Given the description of an element on the screen output the (x, y) to click on. 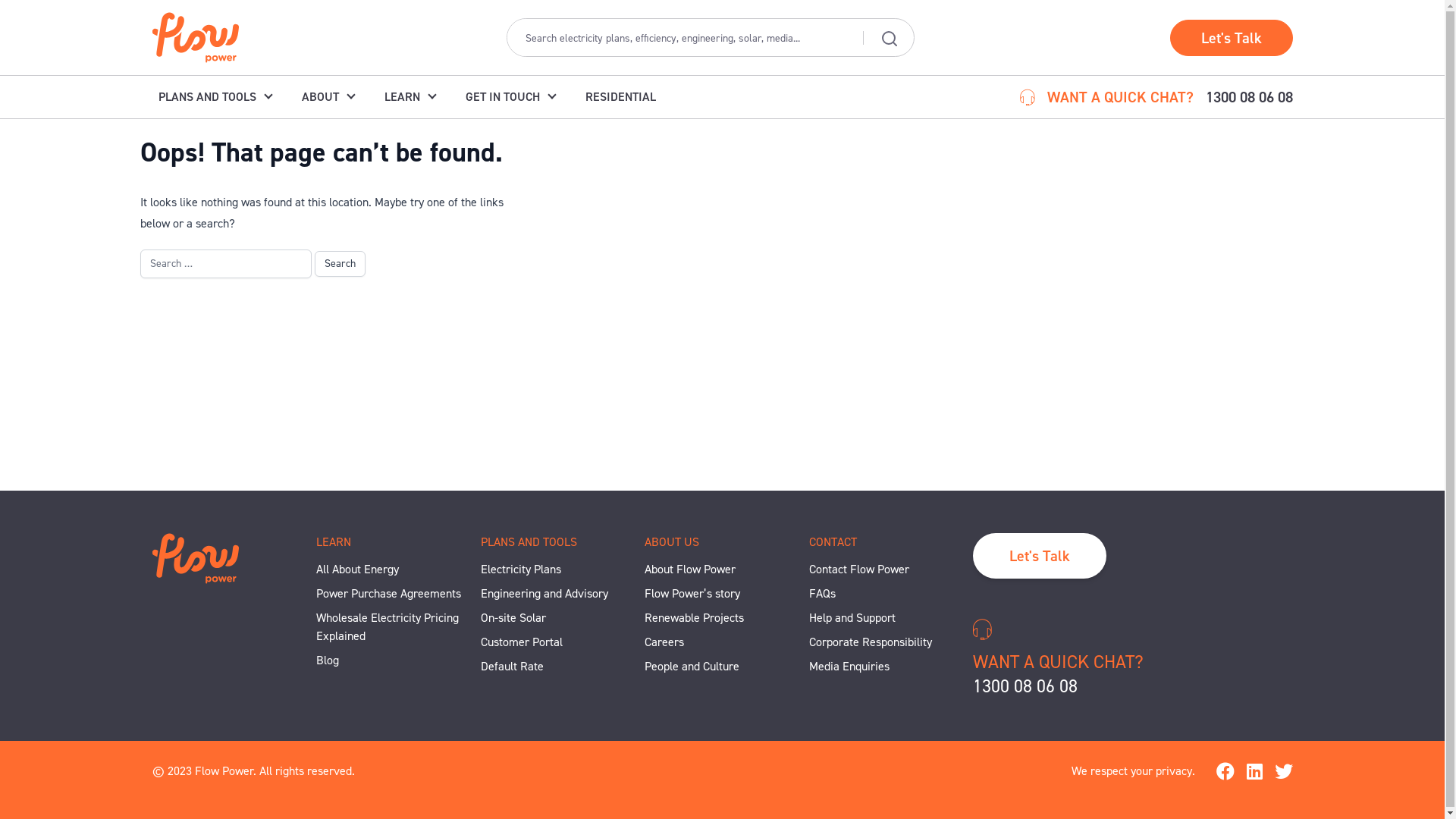
Electricity Plans Element type: text (558, 569)
LEARN Element type: text (408, 96)
GET IN TOUCH Element type: text (510, 96)
People and Culture Element type: text (722, 666)
WANT A QUICK CHAT? 1300 08 06 08 Element type: text (1155, 95)
Corporate Responsibility Element type: text (886, 642)
Contact Flow Power Element type: text (886, 569)
RESIDENTIAL Element type: text (620, 96)
Search Element type: text (338, 263)
Media Enquiries Element type: text (886, 666)
FAQs Element type: text (886, 593)
Let's Talk Element type: text (1230, 37)
Careers Element type: text (722, 642)
On-site Solar Element type: text (558, 617)
Help and Support Element type: text (886, 617)
Blog Element type: text (393, 660)
Power Purchase Agreements Element type: text (393, 593)
Customer Portal Element type: text (558, 642)
Engineering and Advisory Element type: text (558, 593)
ABOUT Element type: text (327, 96)
Default Rate Element type: text (558, 666)
About Flow Power Element type: text (722, 569)
Wholesale Electricity Pricing Explained Element type: text (393, 626)
Let's Talk Element type: text (1039, 555)
WANT A QUICK CHAT?
1300 08 06 08 Element type: text (1132, 658)
All About Energy Element type: text (393, 569)
Renewable Projects Element type: text (722, 617)
PLANS AND TOOLS Element type: text (213, 96)
Search for: Element type: hover (224, 263)
We respect your privacy. Element type: text (1132, 771)
